Given the description of an element on the screen output the (x, y) to click on. 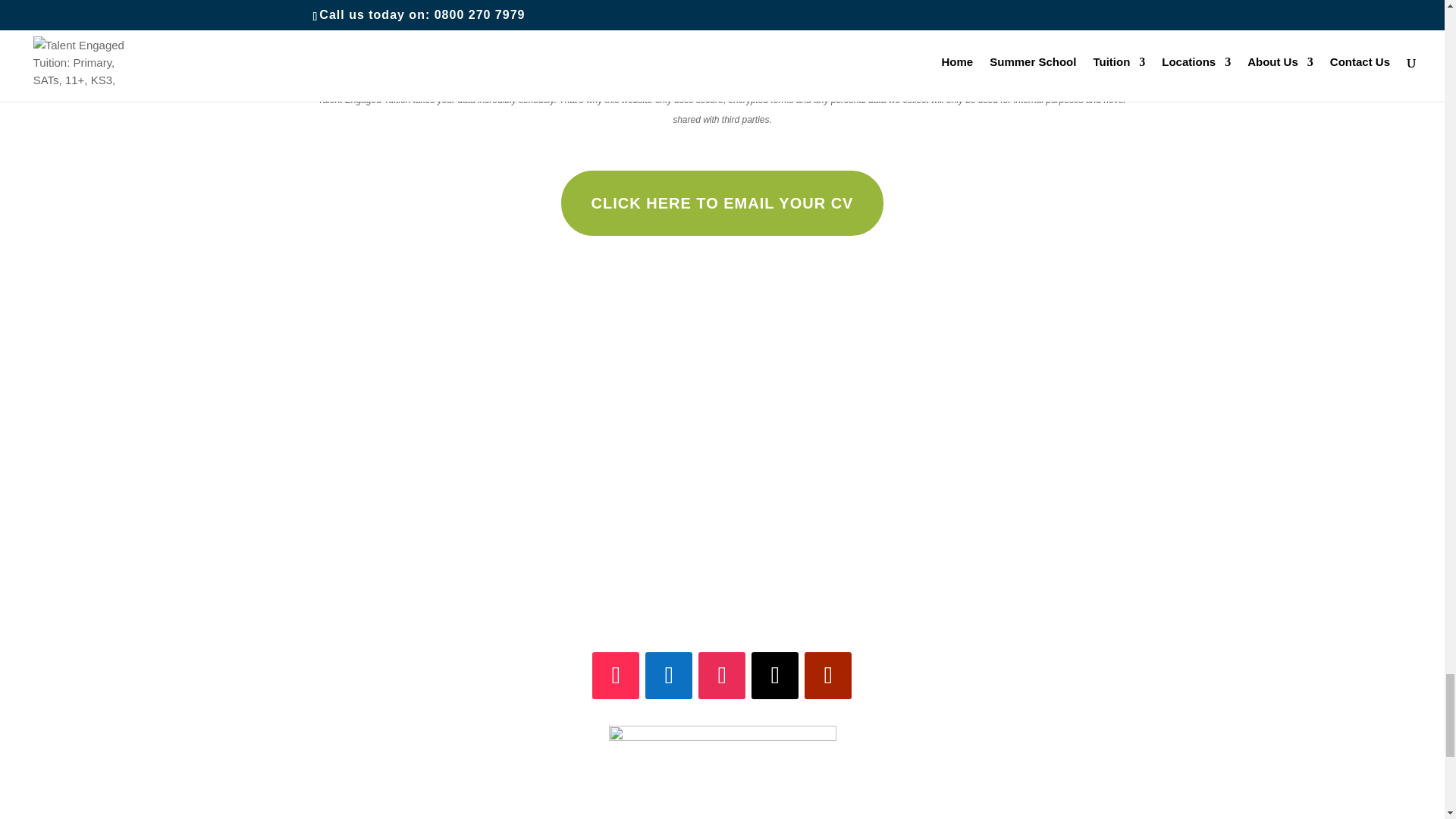
Follow on Facebook (669, 675)
Follow on Instagram (721, 675)
Follow on X (774, 675)
CLICK HERE TO EMAIL YOUR CV (721, 202)
TE-Logo-21 (721, 772)
Follow on TikTok (615, 675)
Follow on Youtube (828, 675)
